Given the description of an element on the screen output the (x, y) to click on. 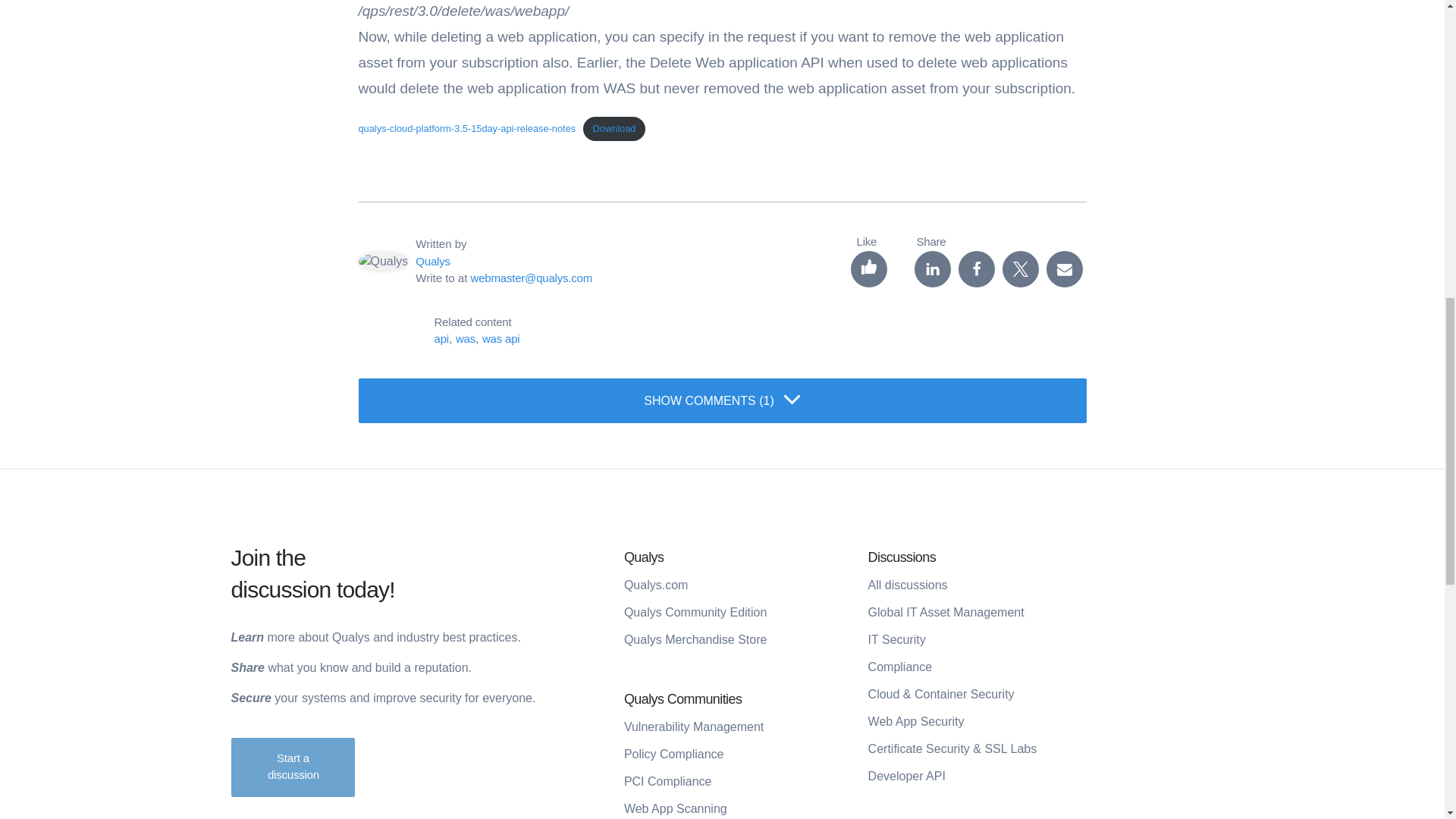
Share on Facebook (976, 268)
Share on LinkedIn (932, 268)
was api (500, 338)
Qualys (431, 260)
Download (614, 128)
Share on X (1021, 268)
qualys-cloud-platform-3.5-15day-api-release-notes (466, 128)
Send by email (1064, 268)
was (465, 338)
api (440, 338)
Start a discussion (292, 766)
